Given the description of an element on the screen output the (x, y) to click on. 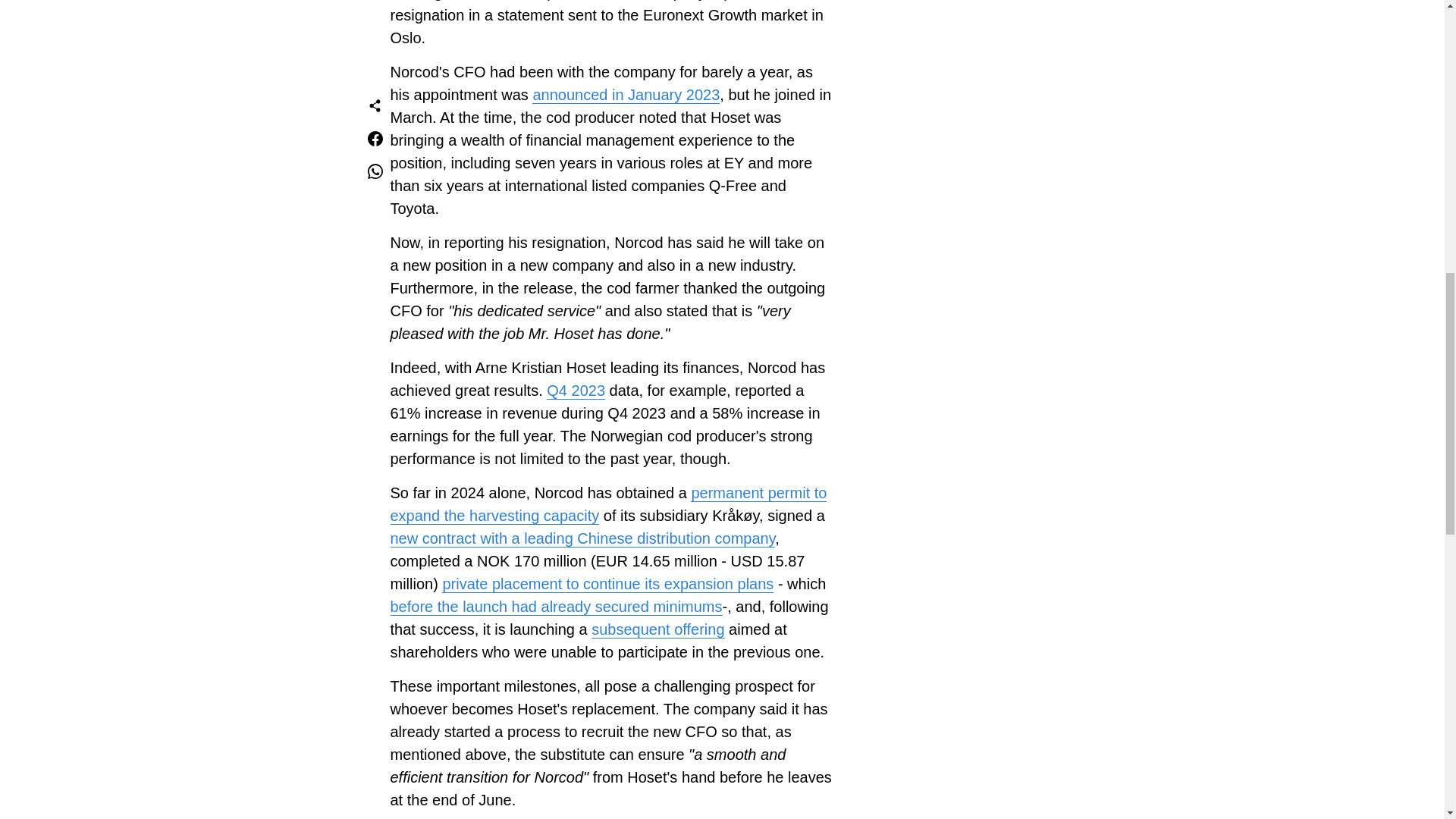
subsequent offering (657, 628)
permanent permit to expand the harvesting capacity (608, 504)
Q4 2023 (576, 390)
new contract with a leading Chinese distribution company (582, 538)
before the launch had already secured minimums (556, 606)
announced in January 2023 (625, 95)
private placement to continue its expansion plans (607, 583)
